Given the description of an element on the screen output the (x, y) to click on. 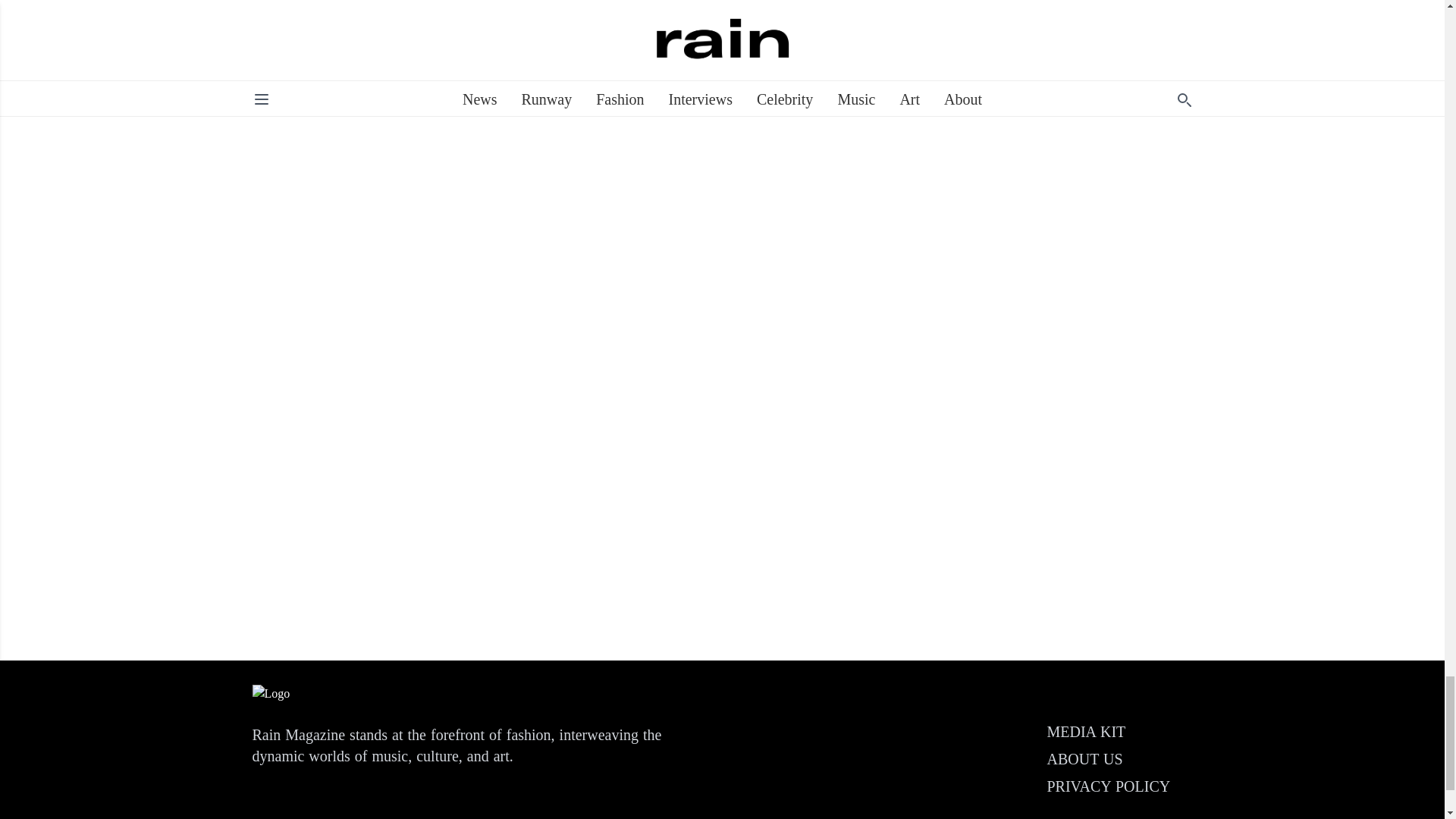
MEDIA KIT (1085, 731)
ABOUT US (1084, 759)
PRIVACY POLICY (1108, 786)
